Given the description of an element on the screen output the (x, y) to click on. 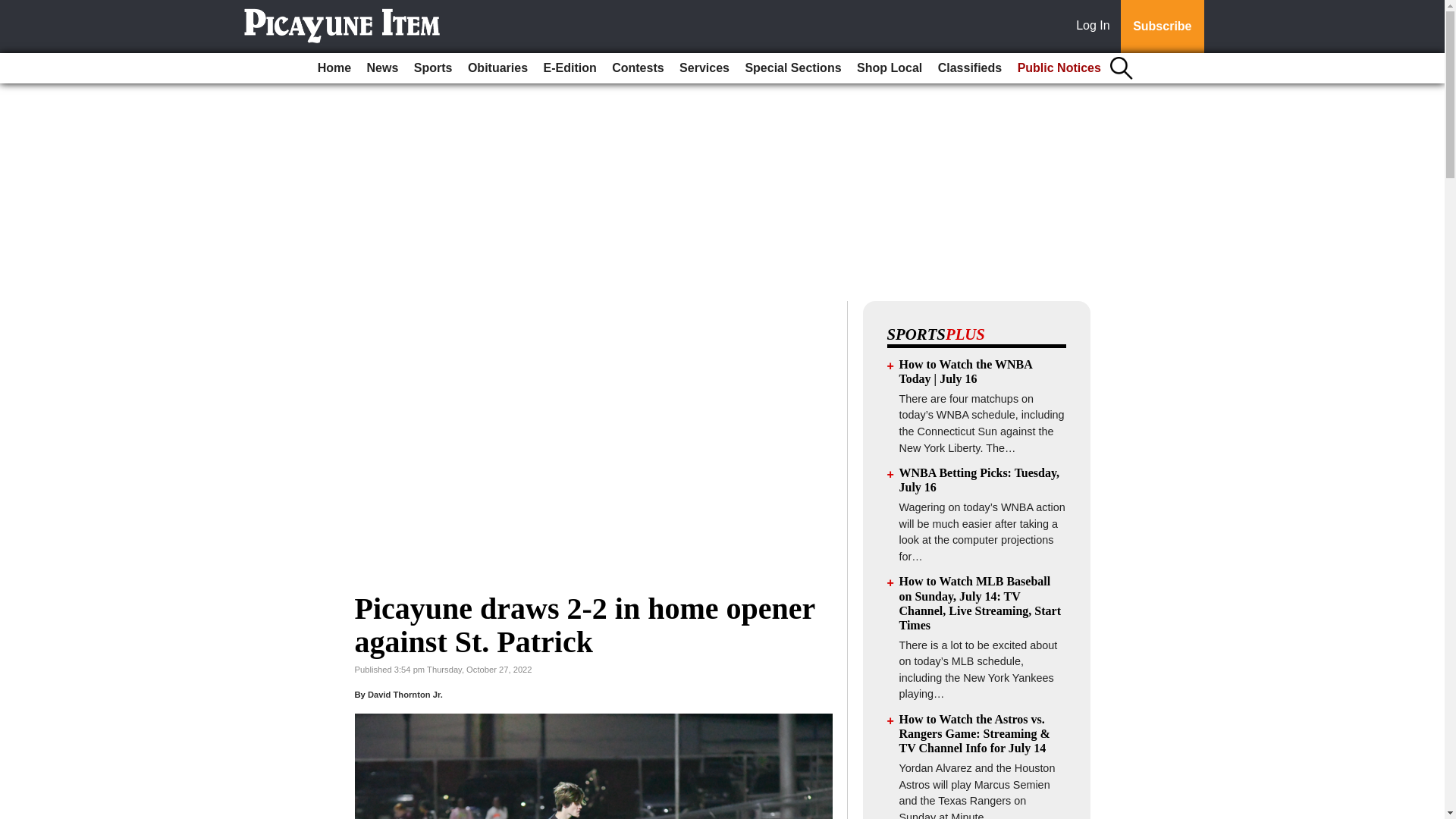
David Thornton Jr. (405, 694)
Go (13, 9)
Services (703, 68)
Classifieds (969, 68)
News (382, 68)
Public Notices (1058, 68)
Shop Local (889, 68)
Special Sections (792, 68)
E-Edition (569, 68)
WNBA Betting Picks: Tuesday, July 16 (979, 479)
Home (333, 68)
Log In (1095, 26)
Obituaries (497, 68)
Sports (432, 68)
